Given the description of an element on the screen output the (x, y) to click on. 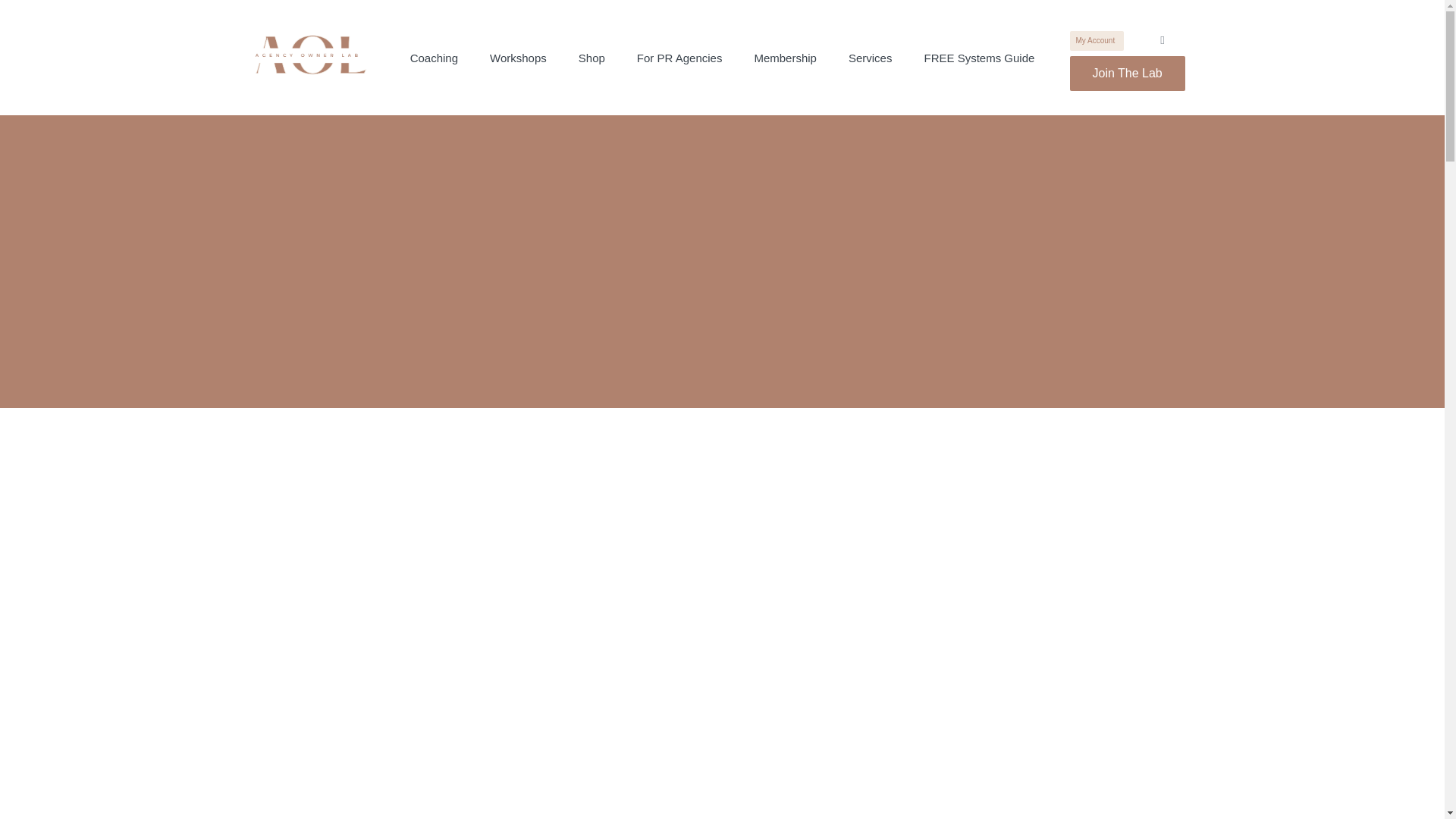
Membership (785, 57)
Coaching (434, 57)
My Account (1096, 40)
Workshops (518, 57)
For PR Agencies (679, 57)
Services (870, 57)
FREE Systems Guide (978, 57)
Join The Lab (1126, 73)
